Given the description of an element on the screen output the (x, y) to click on. 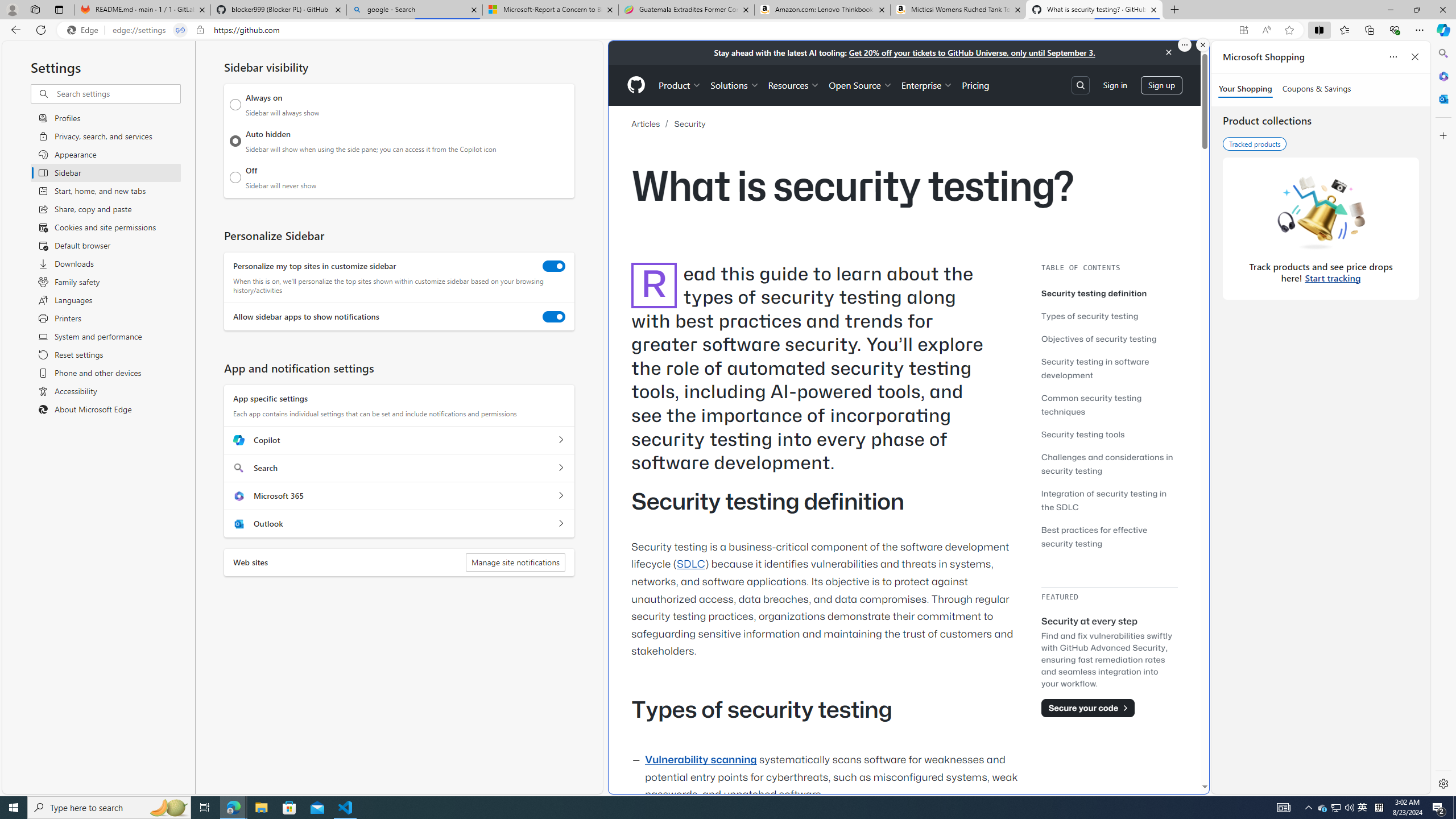
Types of security testing (1089, 316)
Security testing tools (1109, 434)
Integration of security testing in the SDLC (1104, 499)
Edge (84, 29)
Homepage (635, 85)
Best practices for effective security testing (1109, 536)
Challenges and considerations in security testing (1107, 463)
